Given the description of an element on the screen output the (x, y) to click on. 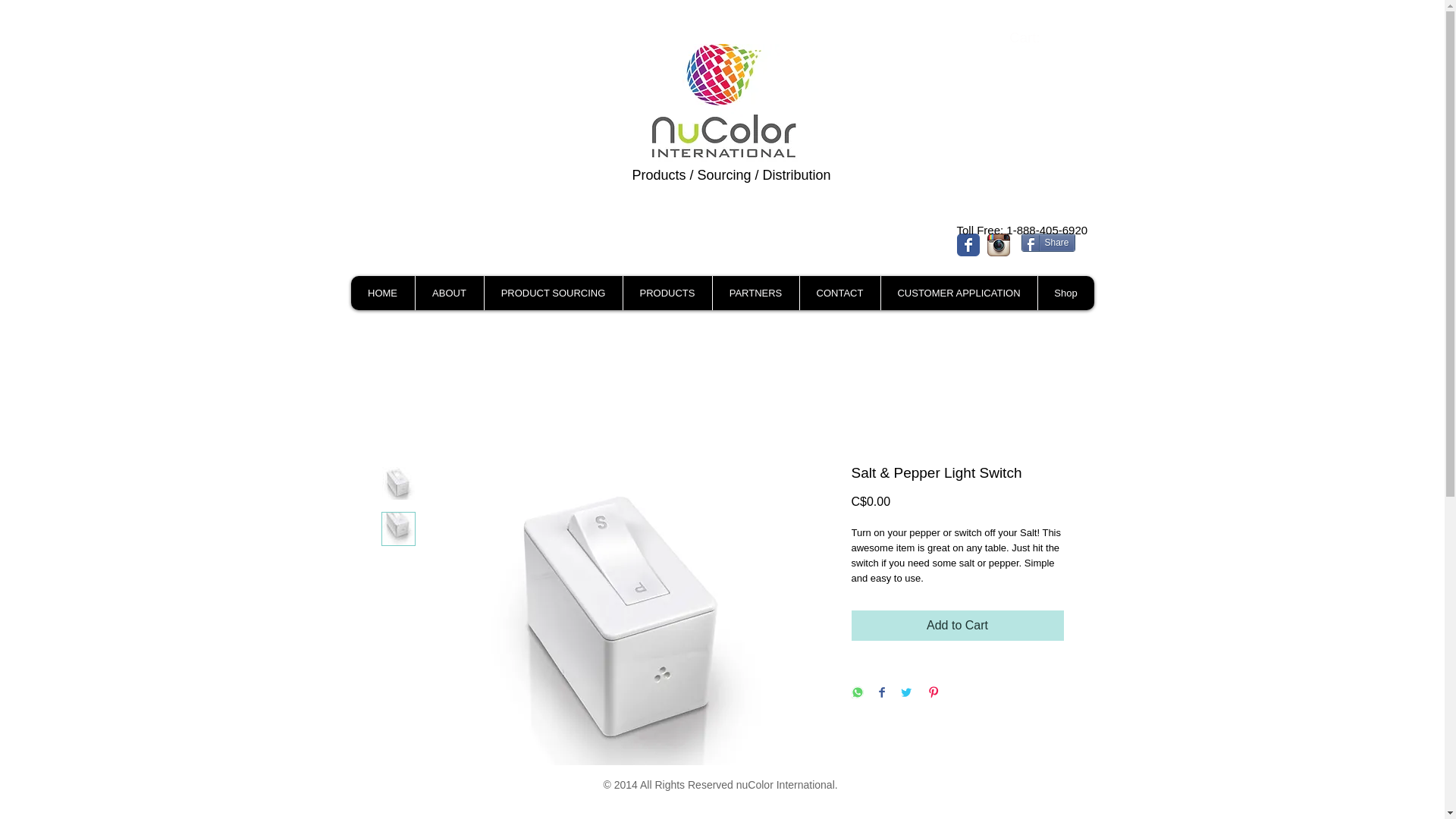
Cart: (1035, 37)
Shop (1065, 293)
CONTACT (839, 293)
Add to Cart (956, 625)
PRODUCT SOURCING (553, 293)
PRODUCTS (666, 293)
Logo 3.jpg (722, 102)
ABOUT (448, 293)
Share (1047, 242)
HOME (381, 293)
PARTNERS (754, 293)
CUSTOMER APPLICATION (957, 293)
Share (1047, 242)
Cart: (1035, 37)
